Given the description of an element on the screen output the (x, y) to click on. 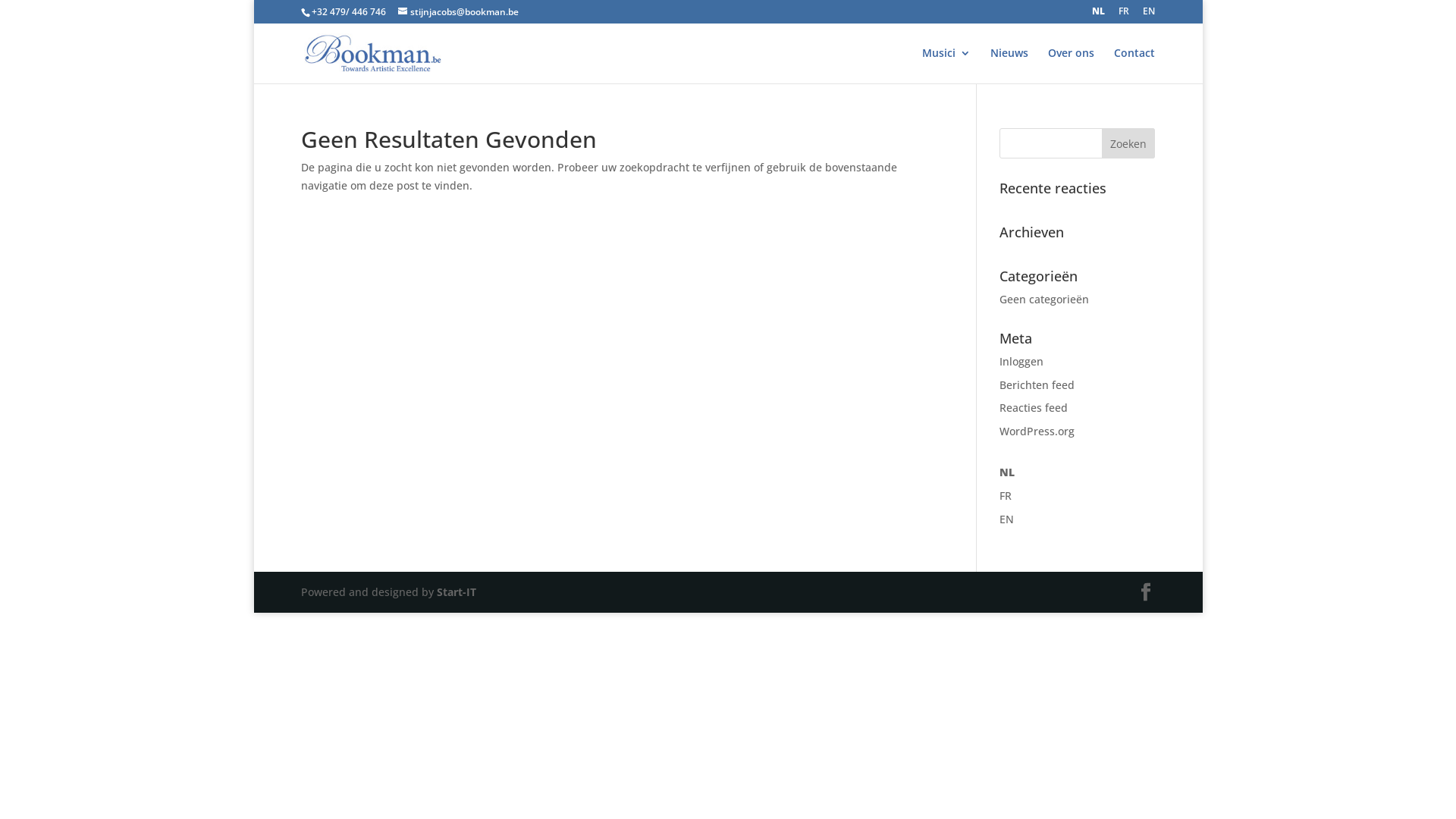
Nieuws Element type: text (1009, 65)
Start-IT Element type: text (456, 591)
FR Element type: text (1005, 495)
NL Element type: text (1006, 471)
FR Element type: text (1123, 14)
EN Element type: text (1006, 518)
Berichten feed Element type: text (1036, 384)
Over ons Element type: text (1071, 65)
EN Element type: text (1148, 14)
Reacties feed Element type: text (1033, 407)
Inloggen Element type: text (1021, 361)
Musici Element type: text (946, 65)
WordPress.org Element type: text (1036, 430)
Zoeken Element type: text (1127, 143)
Contact Element type: text (1133, 65)
NL Element type: text (1098, 14)
stijnjacobs@bookman.be Element type: text (458, 11)
